Given the description of an element on the screen output the (x, y) to click on. 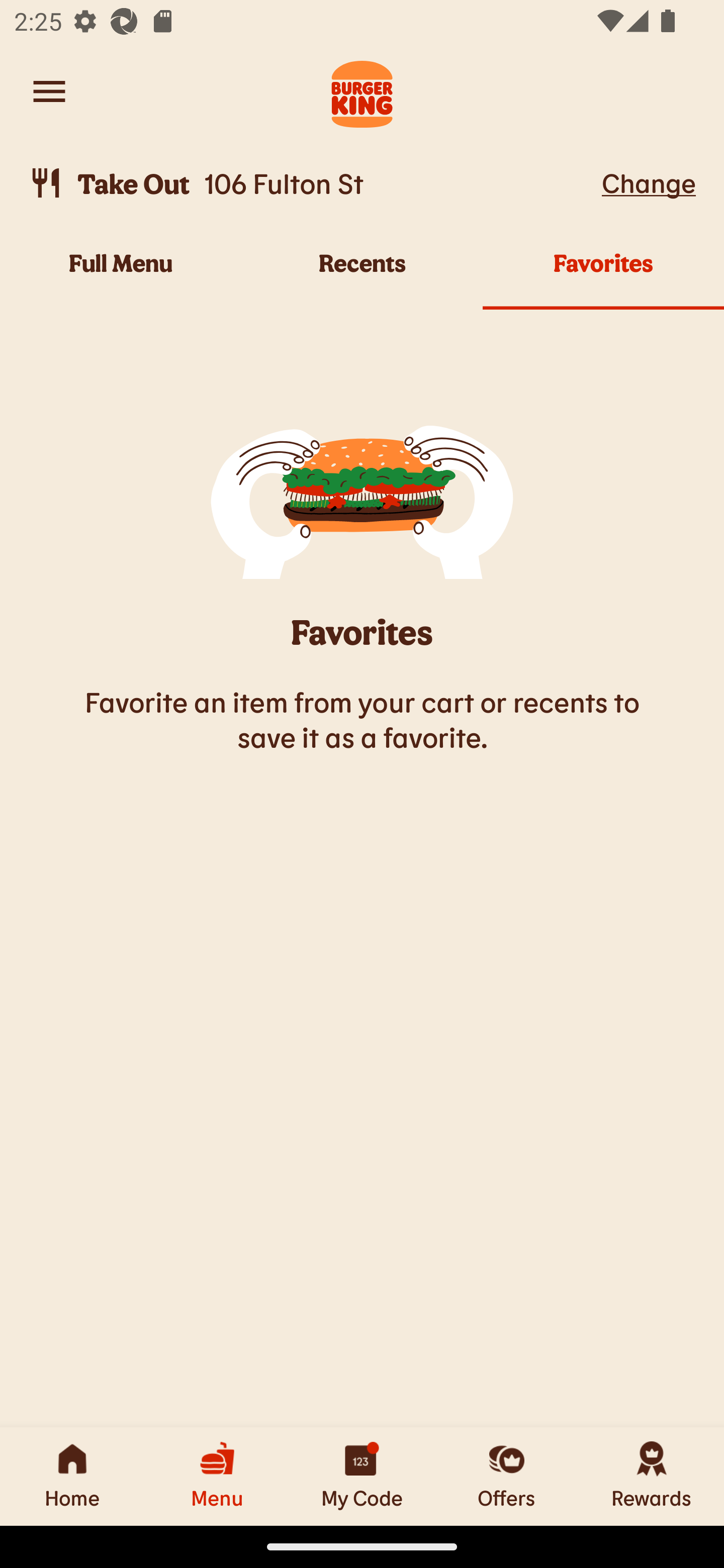
Burger King Logo. Navigate to Home (362, 91)
Navigate to account menu  (49, 91)
Take Out, 106 Fulton St  Take Out 106 Fulton St (311, 183)
Change (648, 182)
Full Menu (120, 273)
Recents (361, 273)
Favorites (603, 273)
Home (72, 1475)
Menu (216, 1475)
My Code (361, 1475)
Offers (506, 1475)
Rewards (651, 1475)
